Given the description of an element on the screen output the (x, y) to click on. 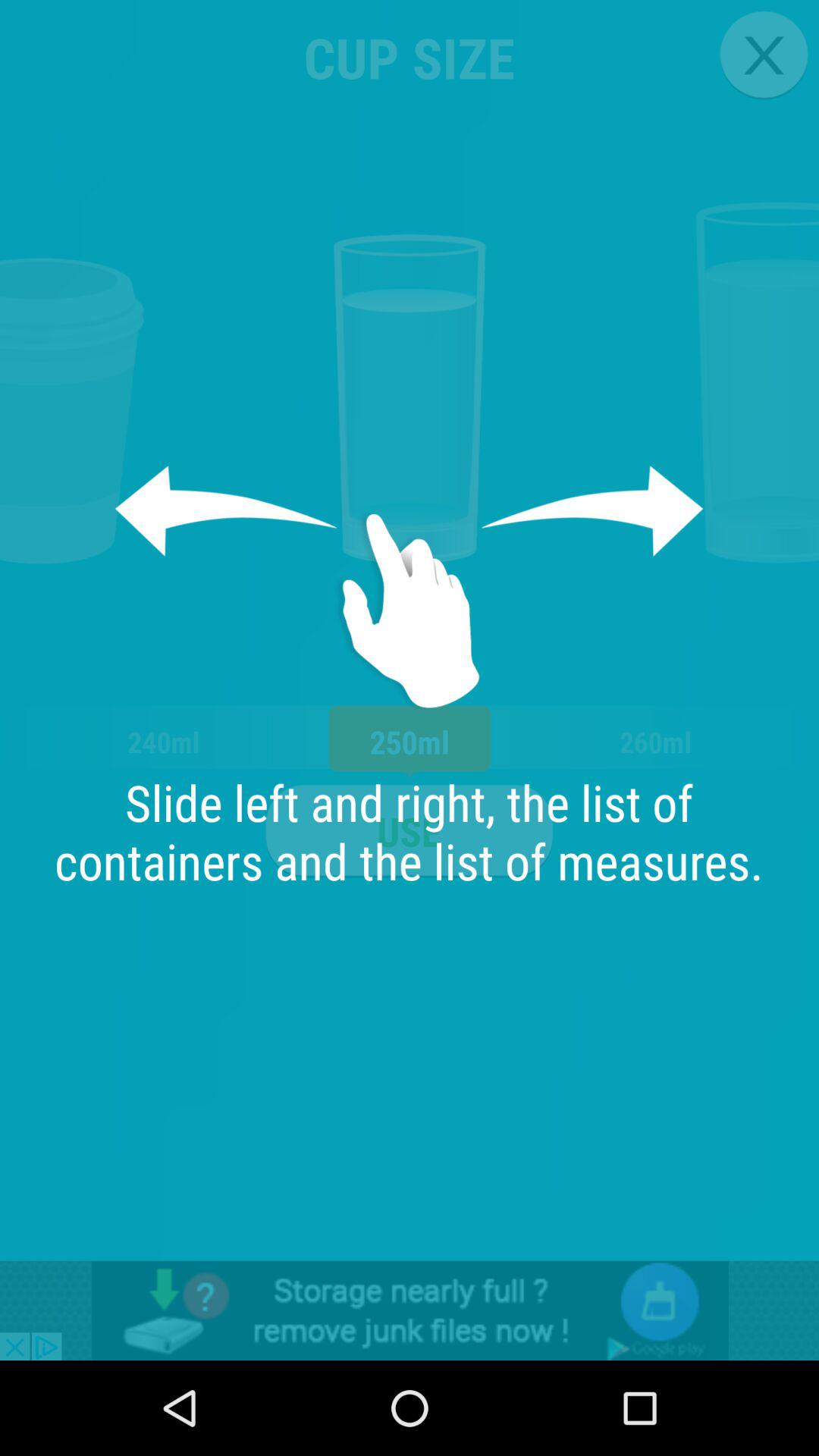
press app to the right of the 240ml icon (408, 830)
